Given the description of an element on the screen output the (x, y) to click on. 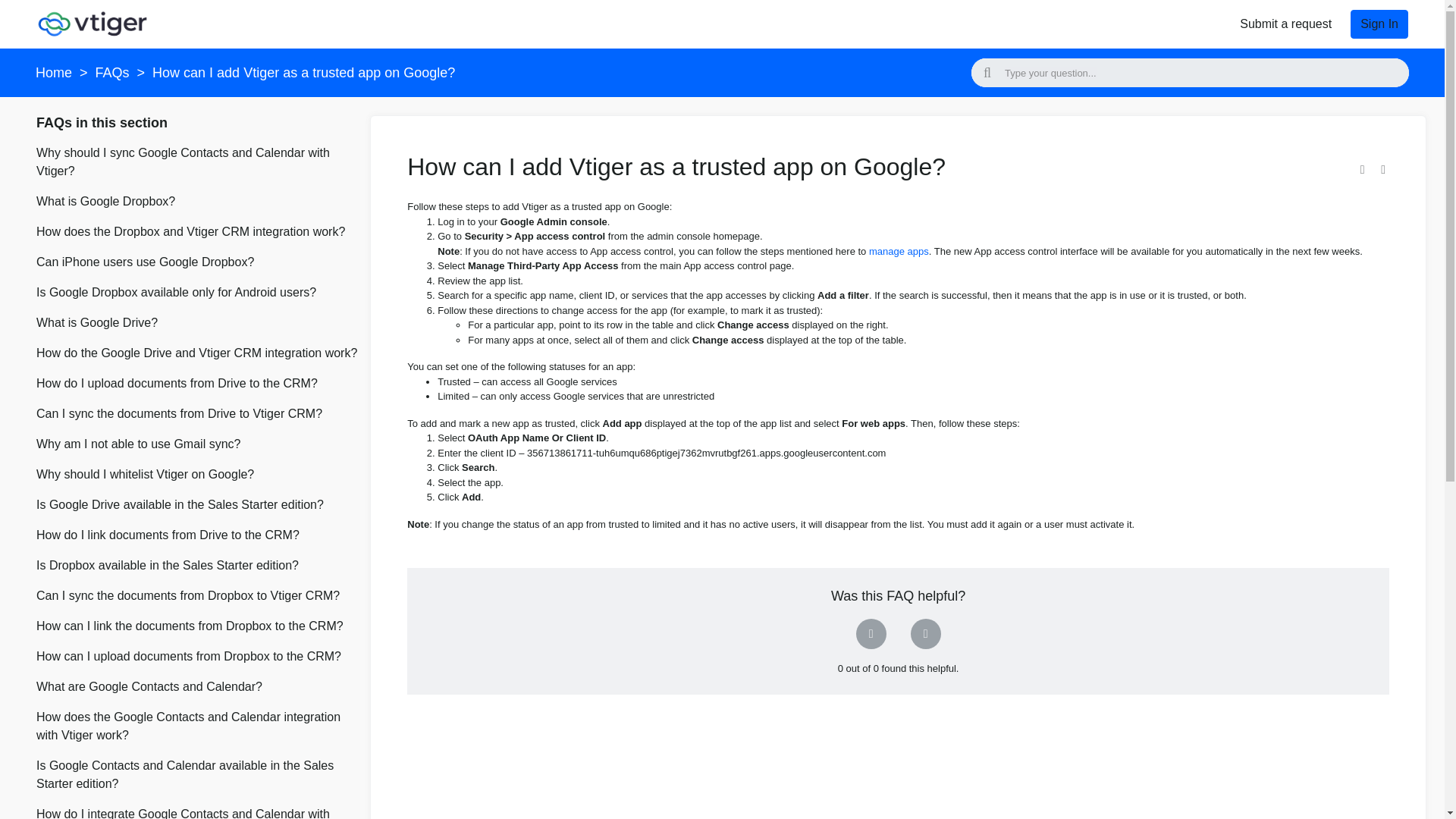
Is Dropbox available in the Sales Starter edition? (197, 568)
Sign In (1379, 23)
Submit a request (1285, 24)
What is Google Dropbox? (197, 204)
Can iPhone users use Google Dropbox? (197, 265)
Why should I sync Google Contacts and Calendar with Vtiger? (197, 165)
How do I integrate Google Contacts and Calendar with Vtiger? (197, 812)
Is Google Drive available in the Sales Starter edition? (197, 508)
How do the Google Drive and Vtiger CRM integration work? (197, 355)
